Given the description of an element on the screen output the (x, y) to click on. 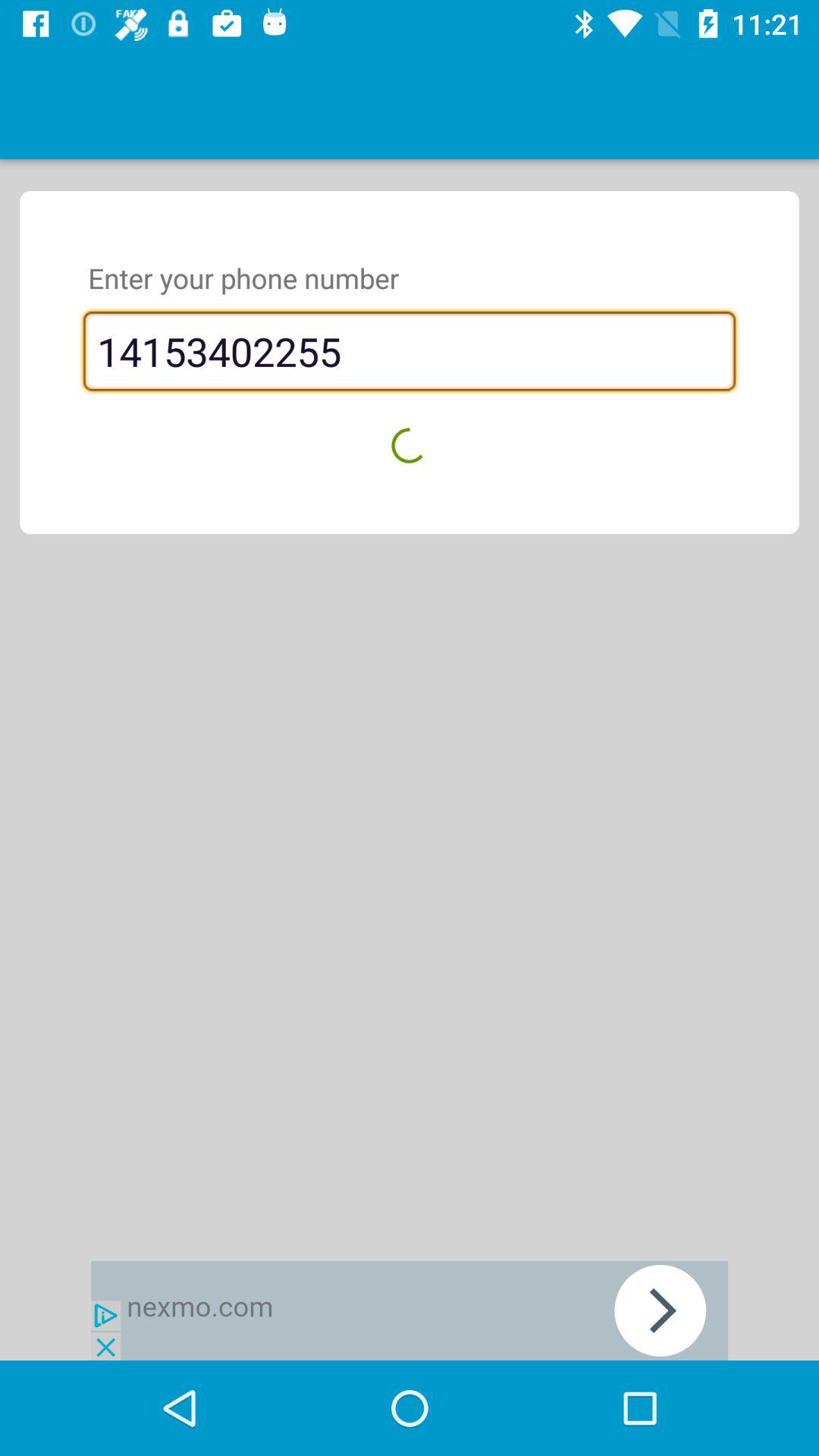
click to see advert (409, 1310)
